Given the description of an element on the screen output the (x, y) to click on. 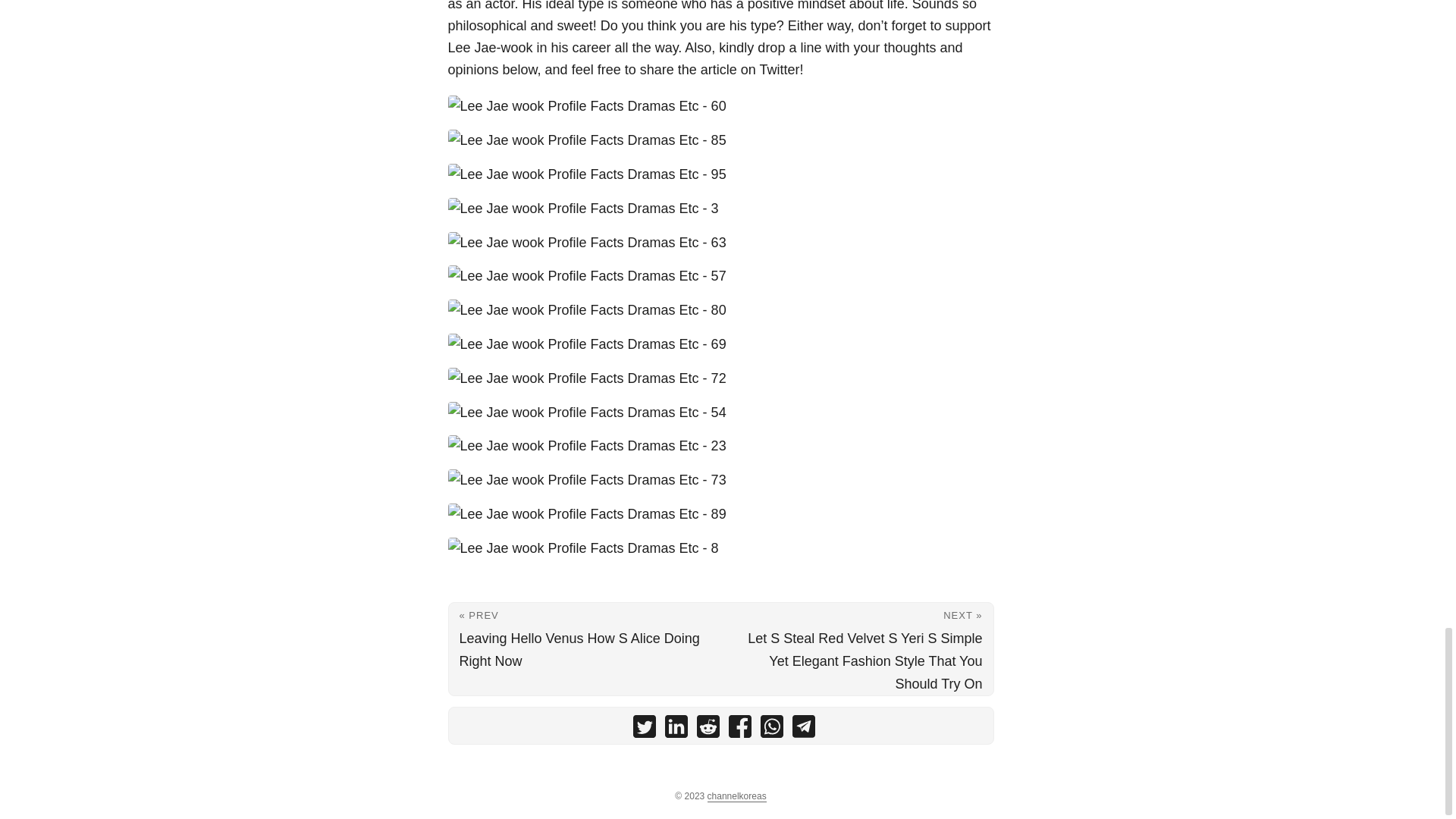
channelkoreas (737, 796)
